Given the description of an element on the screen output the (x, y) to click on. 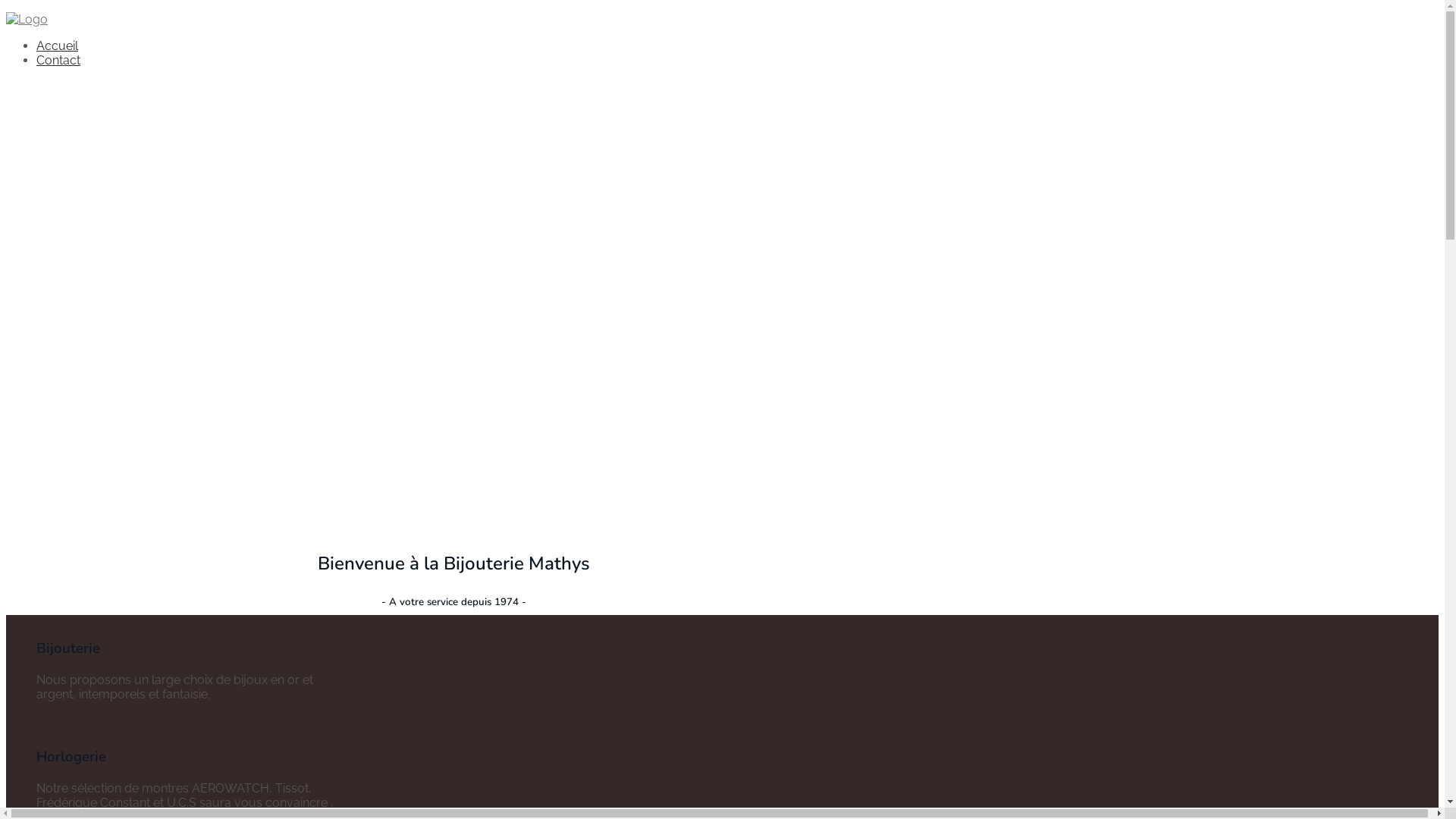
Bijouterie Mathys Element type: hover (26, 19)
Contact Element type: text (58, 60)
Accueil Element type: text (57, 45)
